Given the description of an element on the screen output the (x, y) to click on. 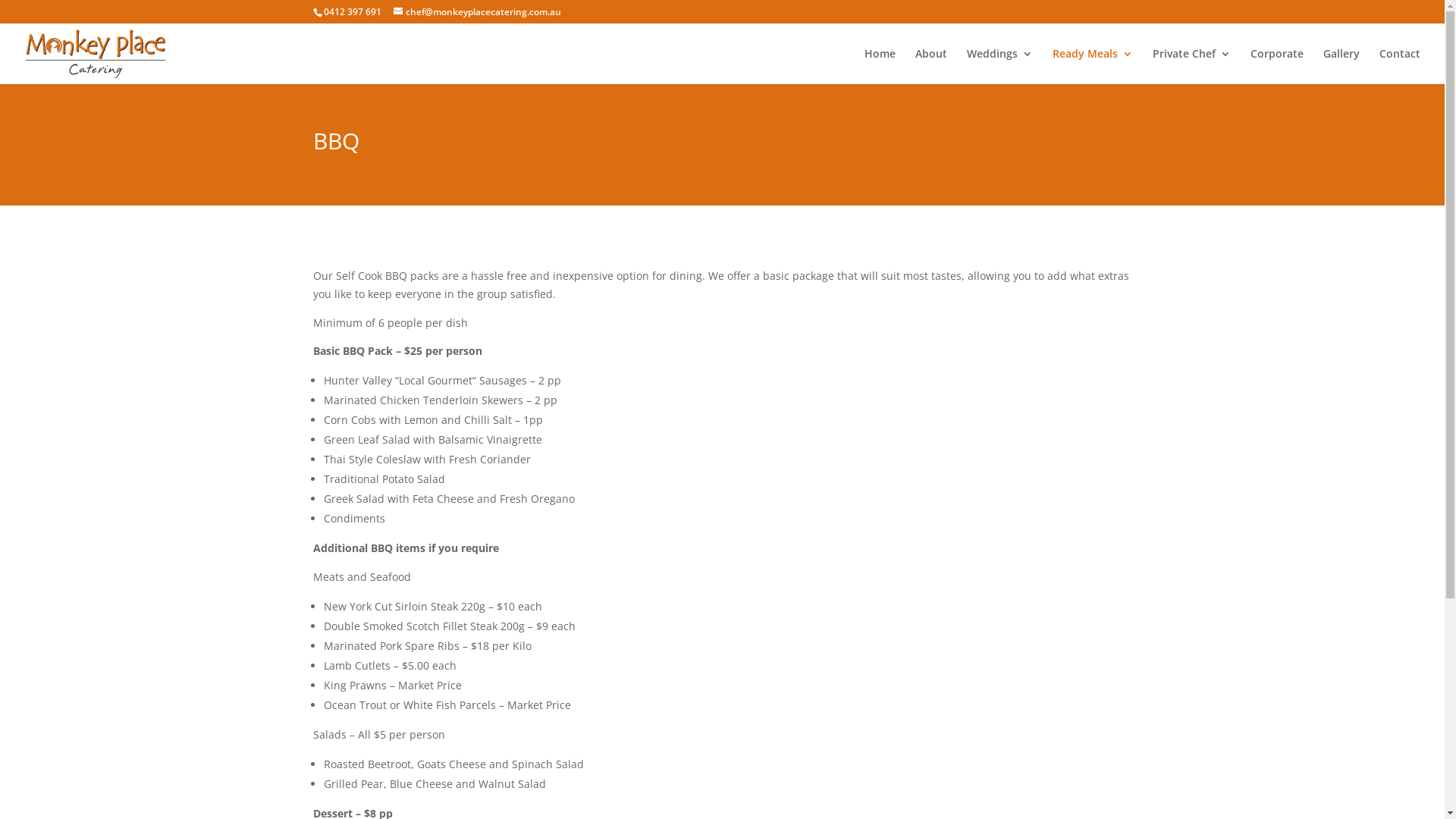
Ready Meals Element type: text (1092, 66)
Contact Element type: text (1399, 66)
Private Chef Element type: text (1191, 66)
Weddings Element type: text (999, 66)
Home Element type: text (879, 66)
chef@monkeyplacecatering.com.au Element type: text (476, 11)
Gallery Element type: text (1341, 66)
About Element type: text (931, 66)
Corporate Element type: text (1276, 66)
